Given the description of an element on the screen output the (x, y) to click on. 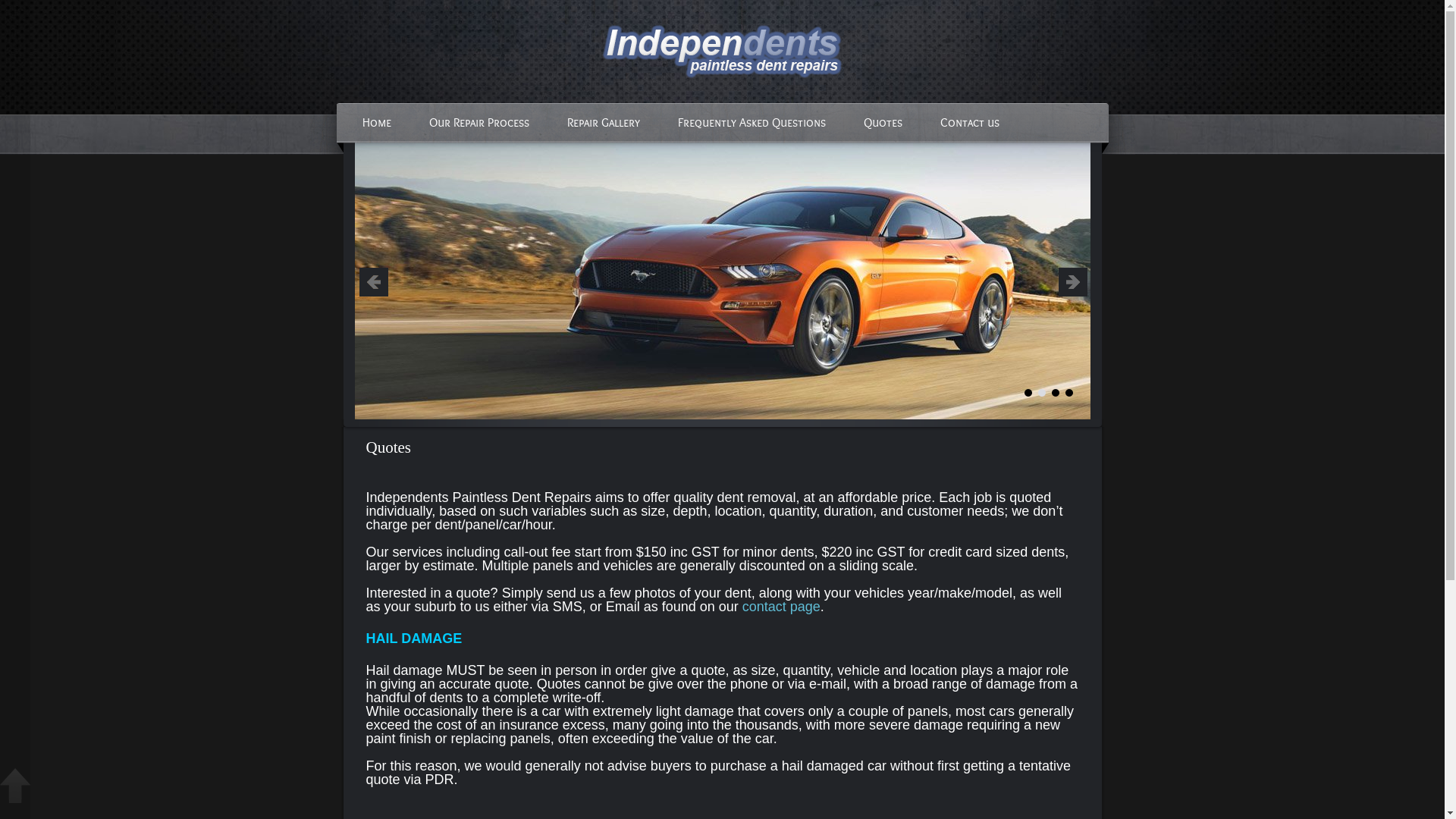
Independents Paintless Dent Repair Element type: hover (721, 51)
4 Element type: text (1068, 392)
1 Element type: text (1027, 392)
2 Element type: text (1040, 392)
Repair Gallery Element type: text (602, 122)
Scroll window up Element type: hover (15, 785)
Home Element type: text (375, 122)
Contact us Element type: text (968, 122)
Frequently Asked Questions Element type: text (751, 122)
Our Repair Process Element type: text (478, 122)
Quotes Element type: text (882, 122)
3 Element type: text (1054, 392)
contact page Element type: text (781, 606)
